Given the description of an element on the screen output the (x, y) to click on. 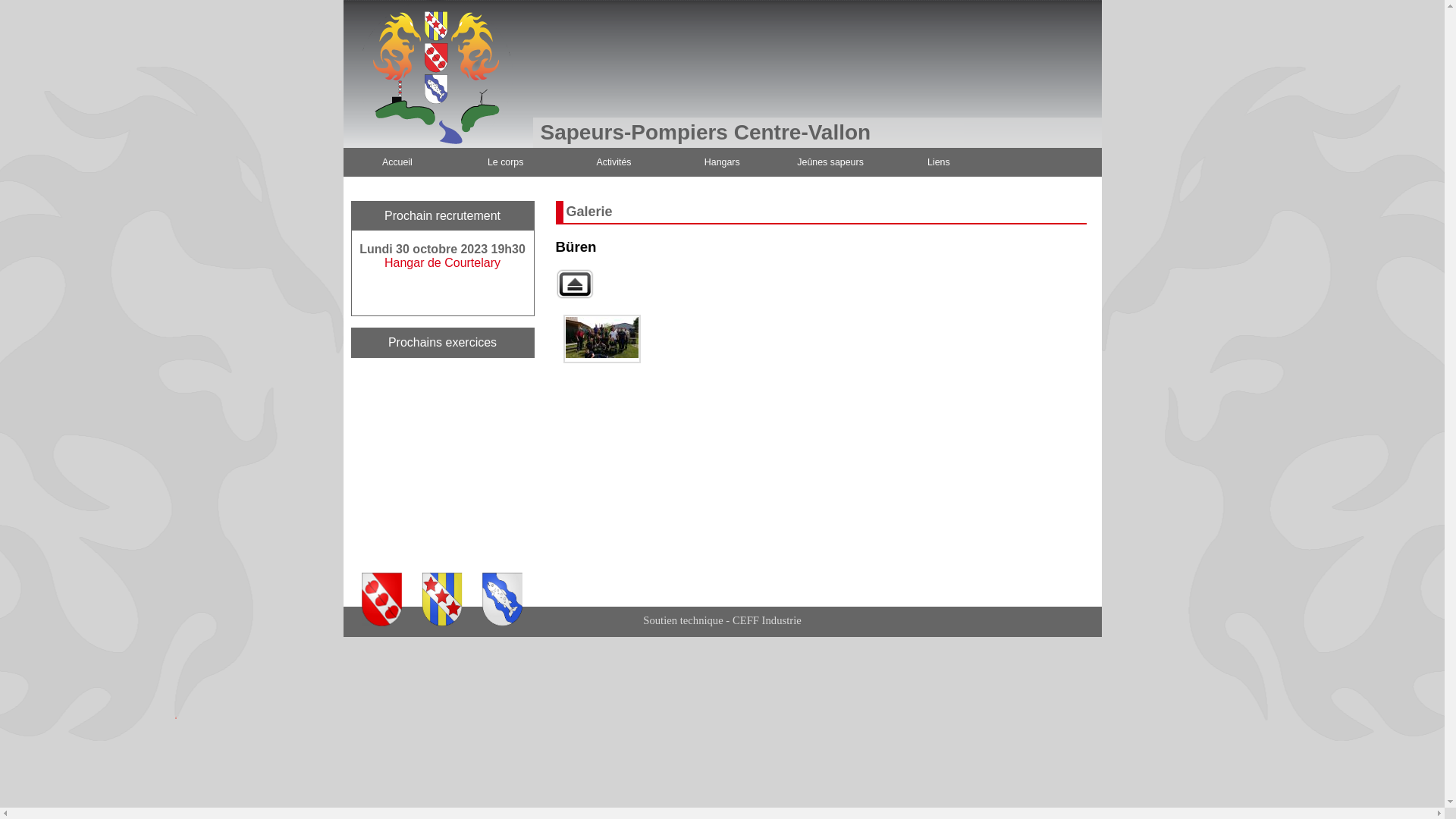
Le corps Element type: text (505, 161)
20150613_115337.jpg Element type: hover (601, 338)
Accueil Element type: text (396, 161)
Liens Element type: text (938, 161)
Hangars Element type: text (722, 161)
Hangar de Courtelary Element type: text (442, 262)
